Given the description of an element on the screen output the (x, y) to click on. 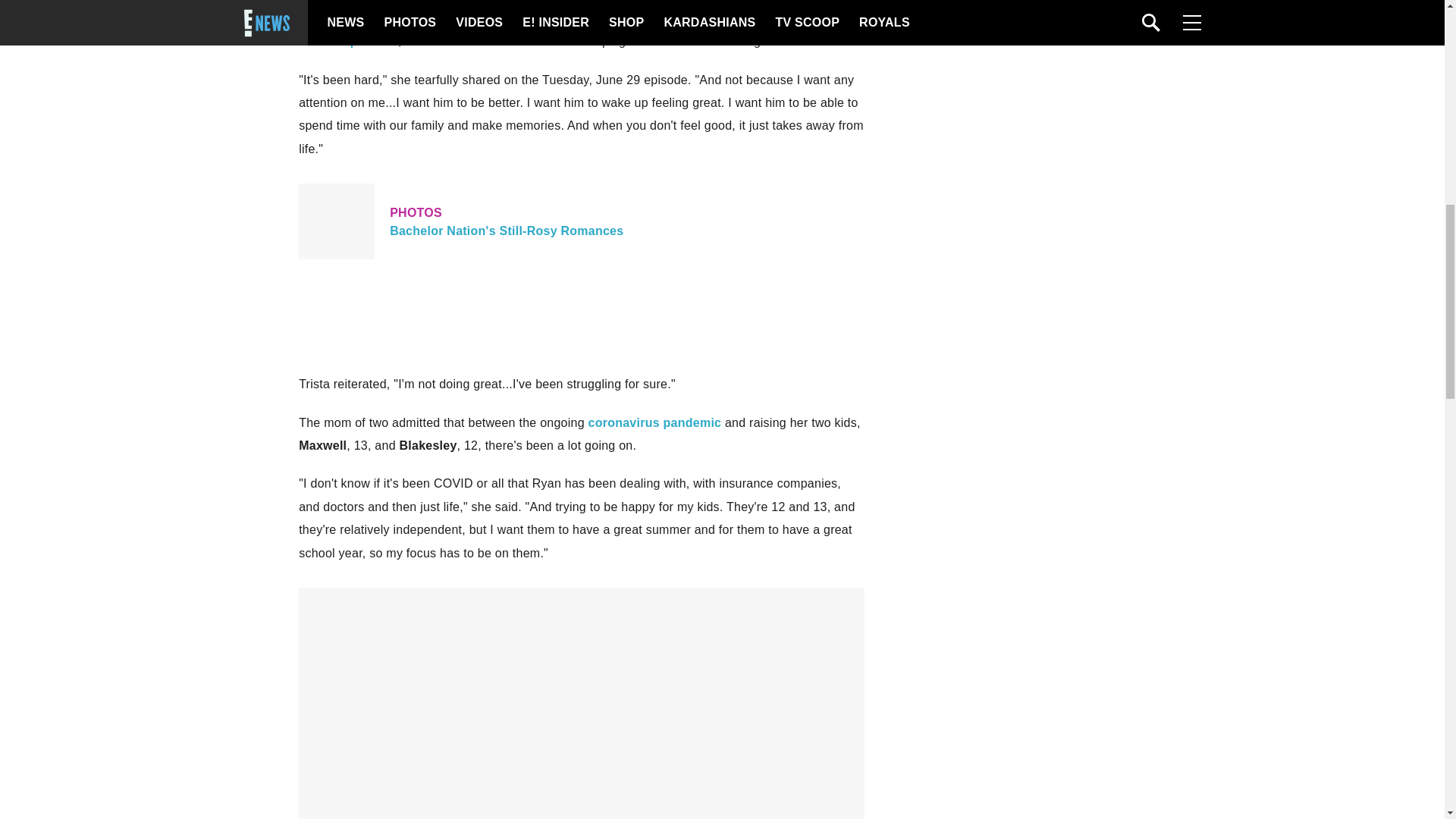
Ashley Iaconetti (517, 18)
Ben and Ashley I Almost Famous podcast (529, 29)
coronavirus pandemic (655, 422)
Ben Higgins (581, 221)
